Given the description of an element on the screen output the (x, y) to click on. 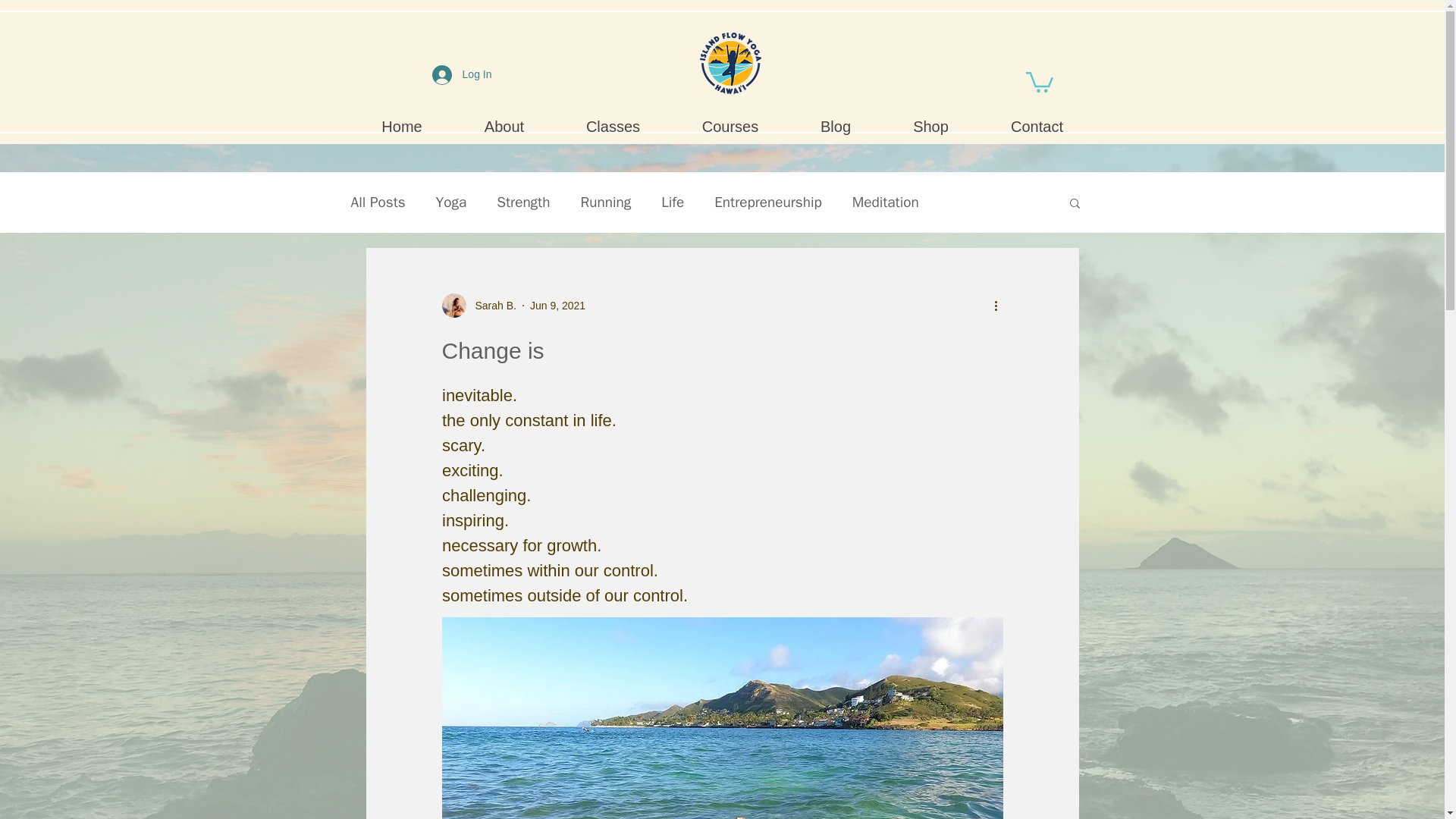
Strength (523, 202)
Meditation (884, 202)
Life (672, 202)
All Posts (377, 202)
Blog (834, 126)
Shop (929, 126)
Classes (612, 126)
Sarah B. (478, 305)
Entrepreneurship (768, 202)
Running (604, 202)
